Given the description of an element on the screen output the (x, y) to click on. 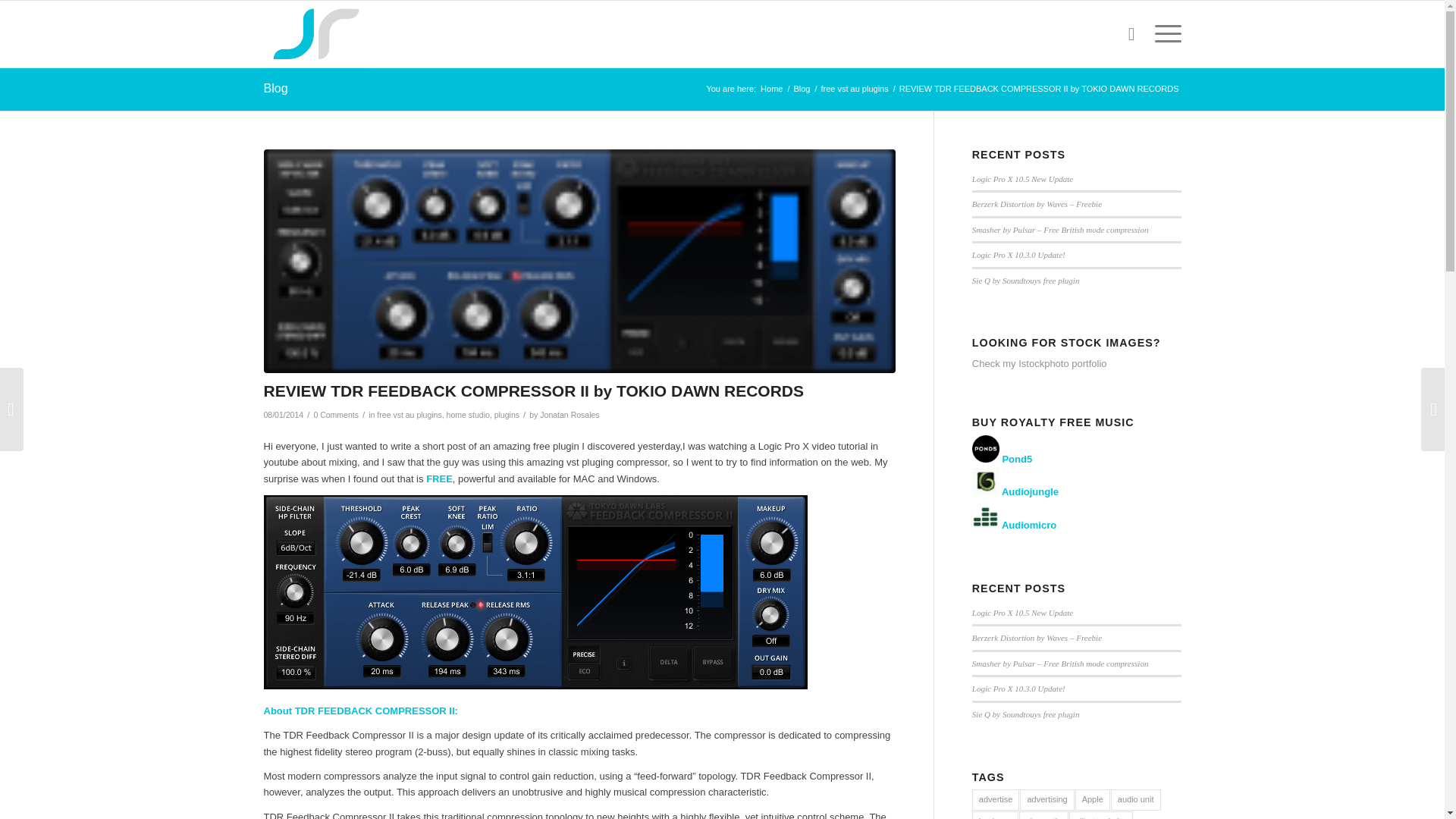
Permanent Link: Blog (275, 88)
free vst au plugins (409, 414)
Home (771, 89)
Blog (275, 88)
Posts by Jonatan Rosales (569, 414)
Jonatan Rosales (569, 414)
0 Comments (335, 414)
free vst au plugins (853, 89)
home studio (467, 414)
